Given the description of an element on the screen output the (x, y) to click on. 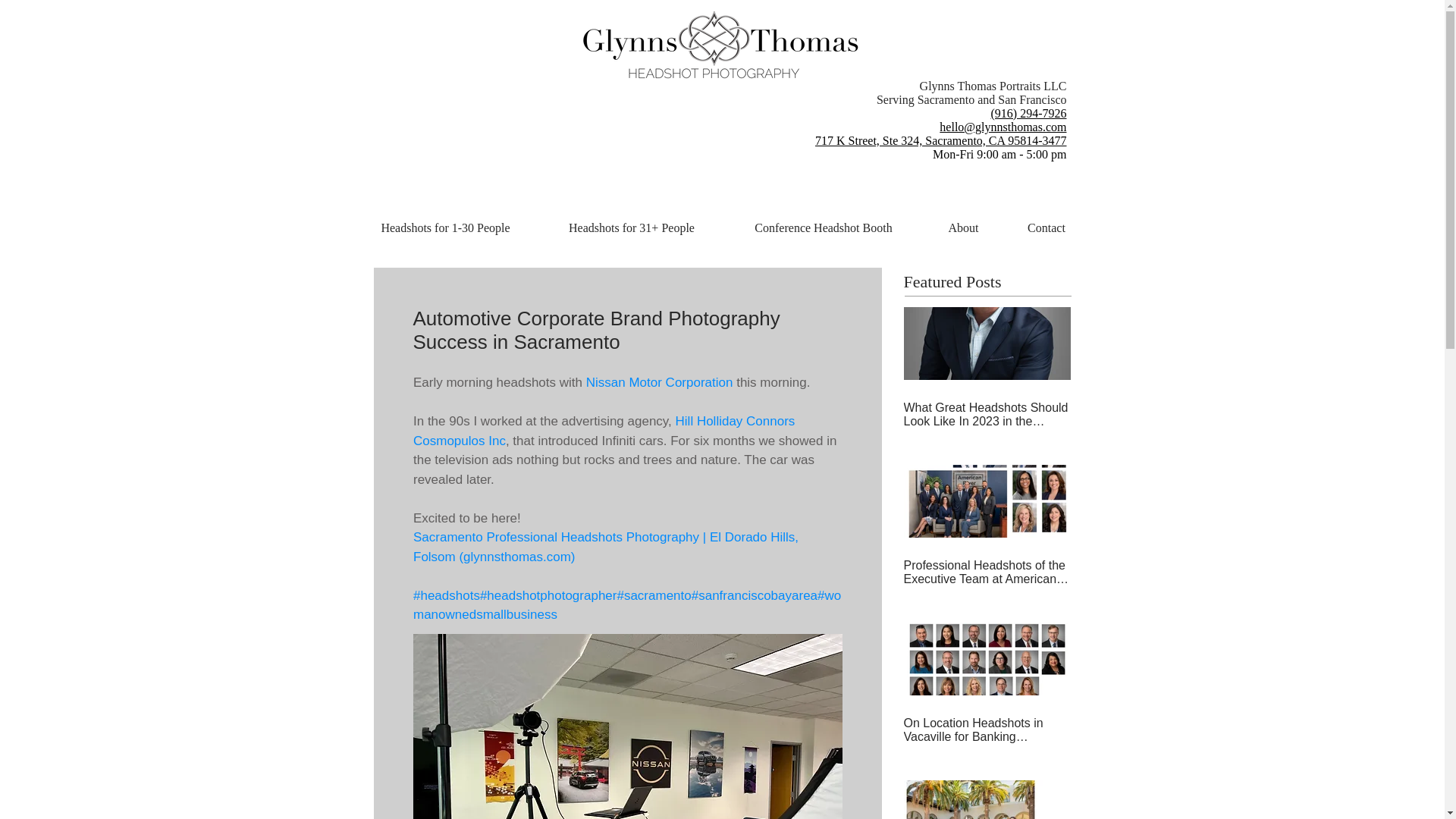
Contact (1046, 227)
717 K Street, Ste 324, Sacramento, CA 95814-3477 (941, 140)
Hill Holliday Connors Cosmopulos Inc (604, 430)
Nissan Motor Corporation (658, 382)
On Location Headshots in Vacaville for Banking Executives (987, 729)
Headshots for 1-30 People (445, 227)
Conference Headshot Booth (823, 227)
About (963, 227)
